Given the description of an element on the screen output the (x, y) to click on. 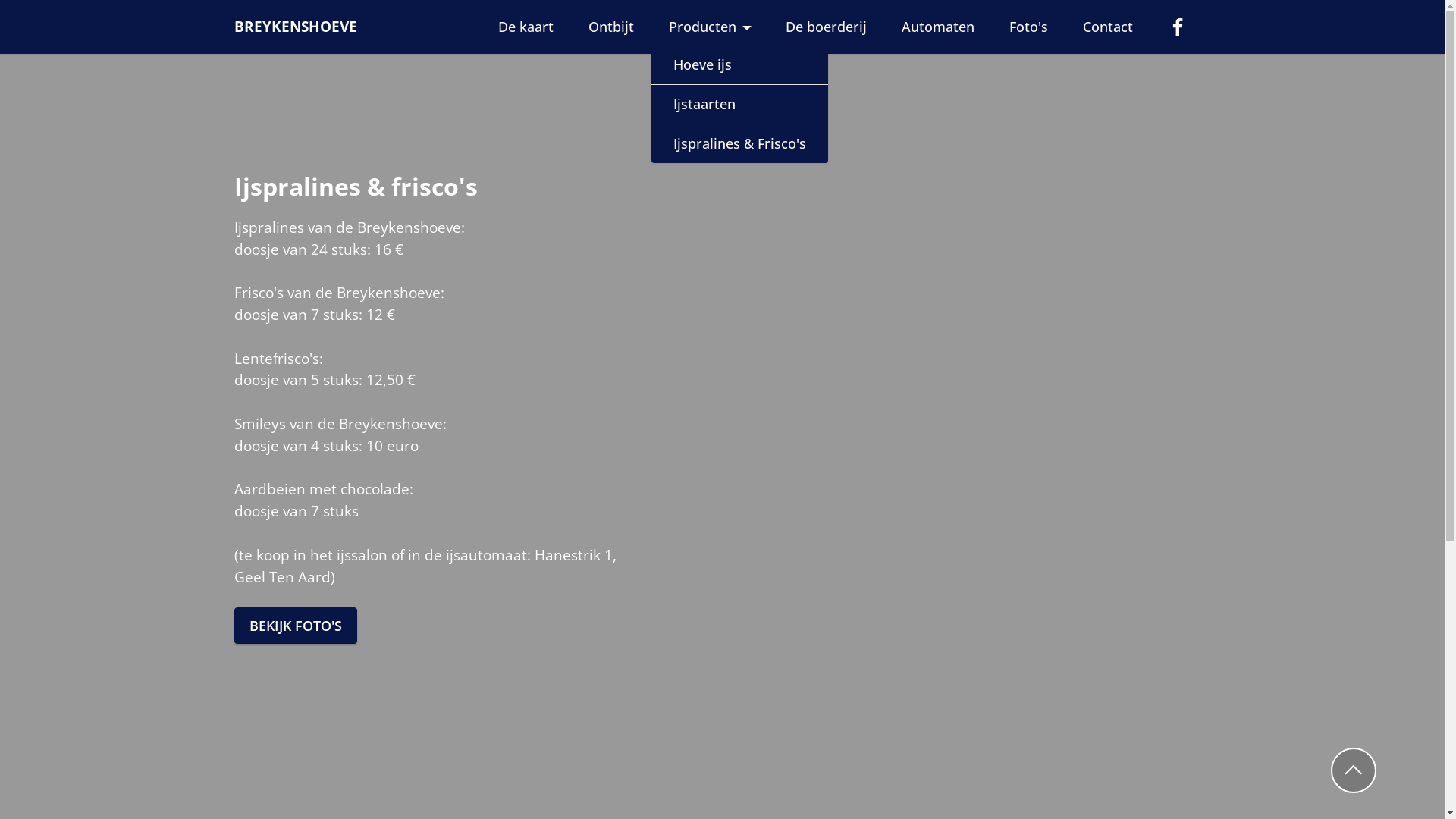
De kaart Element type: text (526, 26)
De boerderij Element type: text (826, 26)
Automaten Element type: text (938, 26)
BREYKENSHOEVE Element type: text (294, 25)
Producten Element type: text (709, 26)
Hoeve ijs Element type: text (739, 64)
Foto's Element type: text (1028, 26)
Contact Element type: text (1107, 26)
Ijstaarten Element type: text (739, 104)
BEKIJK FOTO'S Element type: text (294, 625)
Ijspralines & Frisco's Element type: text (739, 143)
Ontbijt Element type: text (611, 26)
